Given the description of an element on the screen output the (x, y) to click on. 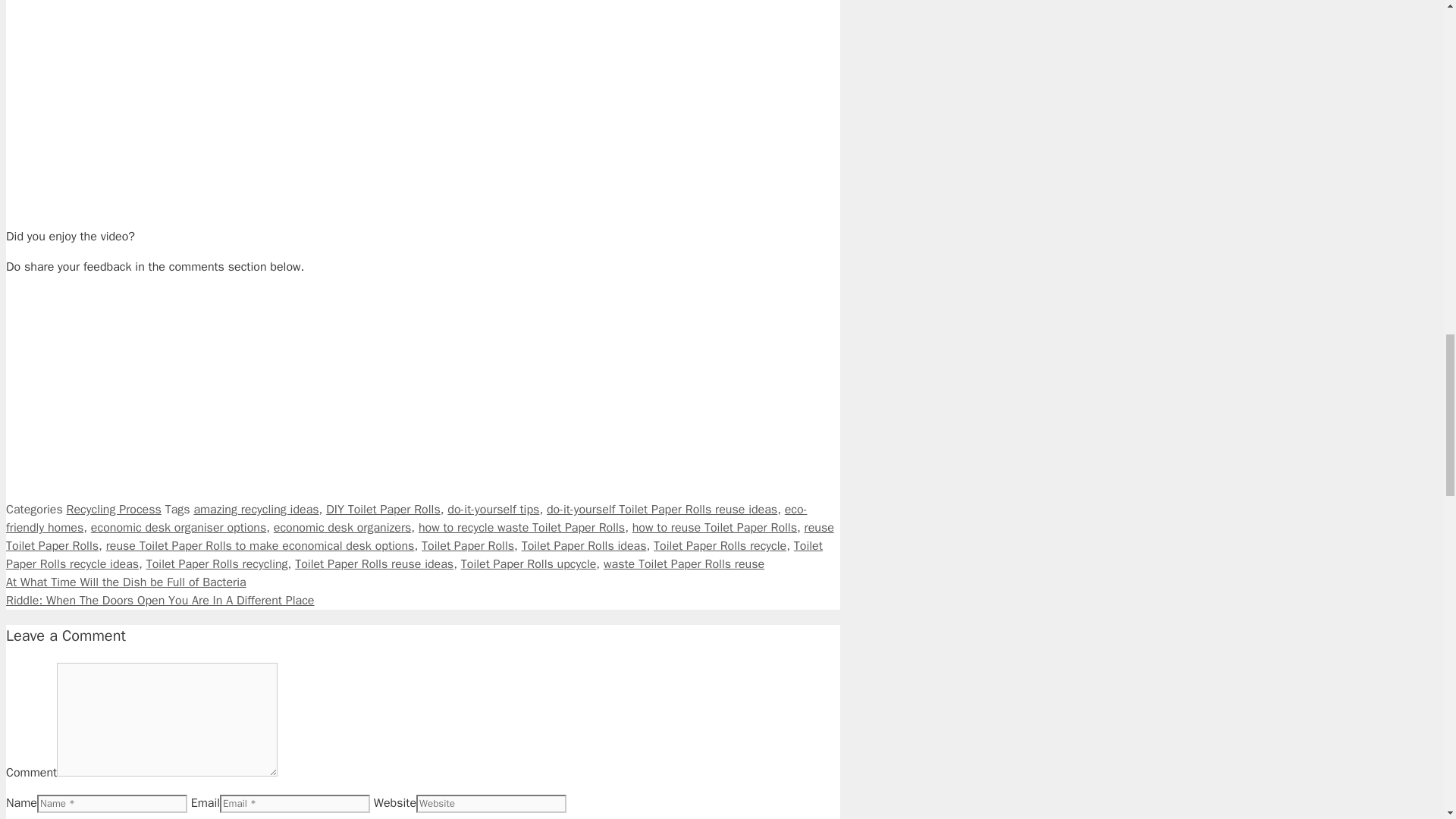
economic desk organizers (342, 527)
how to recycle waste Toilet Paper Rolls (521, 527)
how to reuse Toilet Paper Rolls (713, 527)
amazing recycling ideas (255, 509)
do-it-yourself Toilet Paper Rolls reuse ideas (662, 509)
reuse Toilet Paper Rolls (419, 536)
eco-friendly homes (405, 518)
Recycling Process (113, 509)
reuse Toilet Paper Rolls to make economical desk options (260, 545)
DIY Toilet Paper Rolls (383, 509)
